Given the description of an element on the screen output the (x, y) to click on. 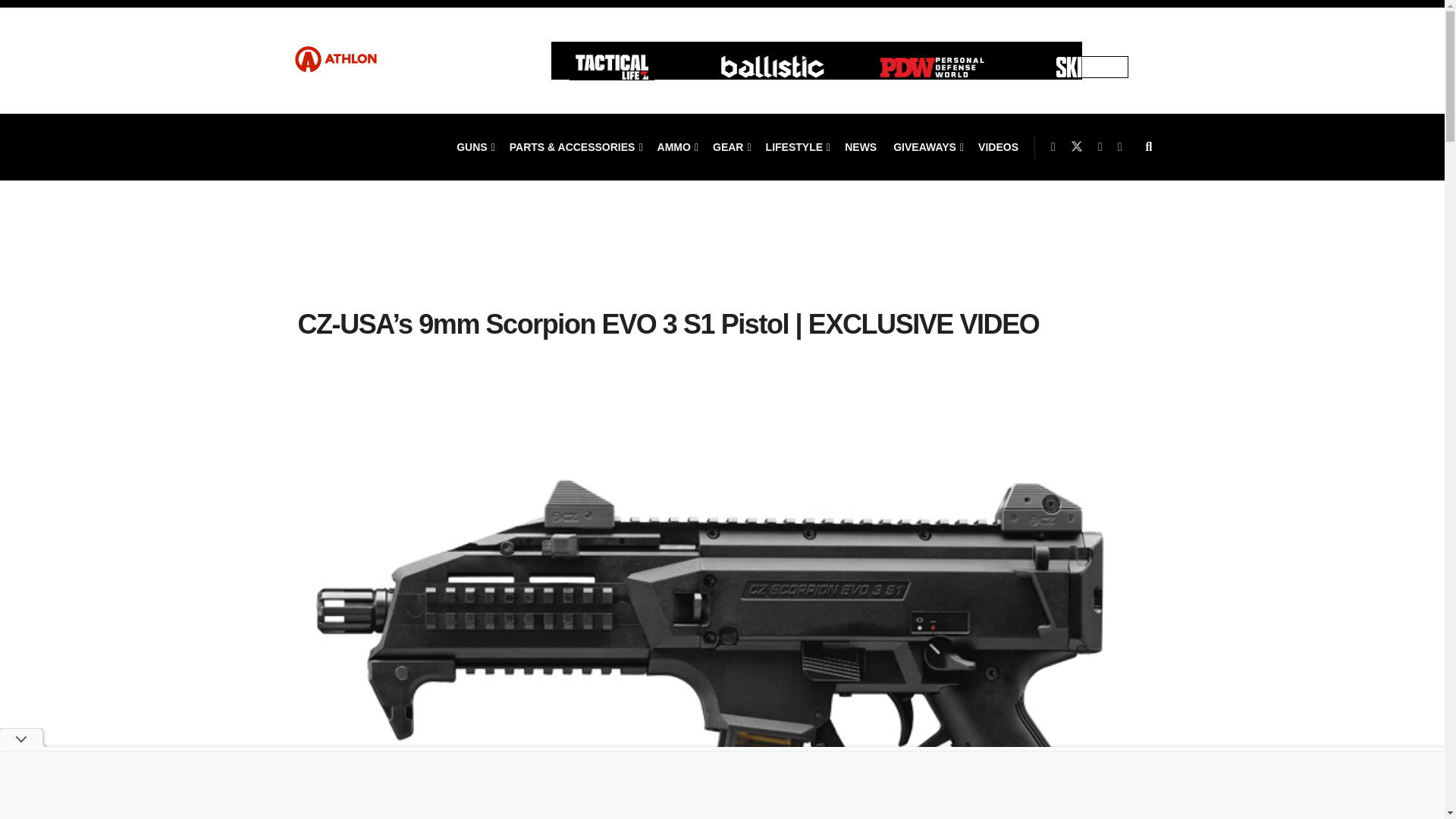
3rd party ad content (722, 260)
